Given the description of an element on the screen output the (x, y) to click on. 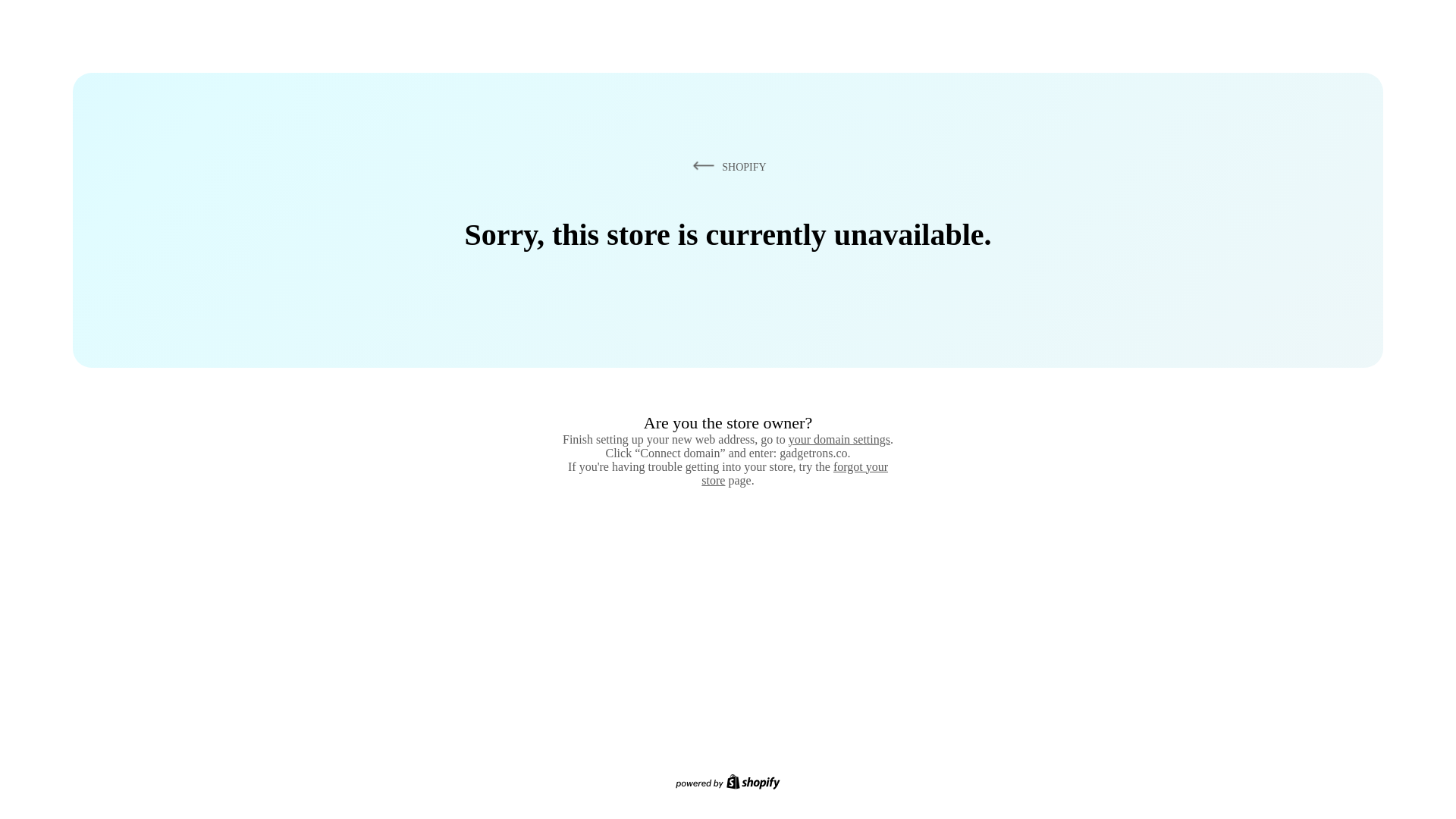
SHOPIFY (726, 166)
forgot your store (794, 473)
your domain settings (839, 439)
